Given the description of an element on the screen output the (x, y) to click on. 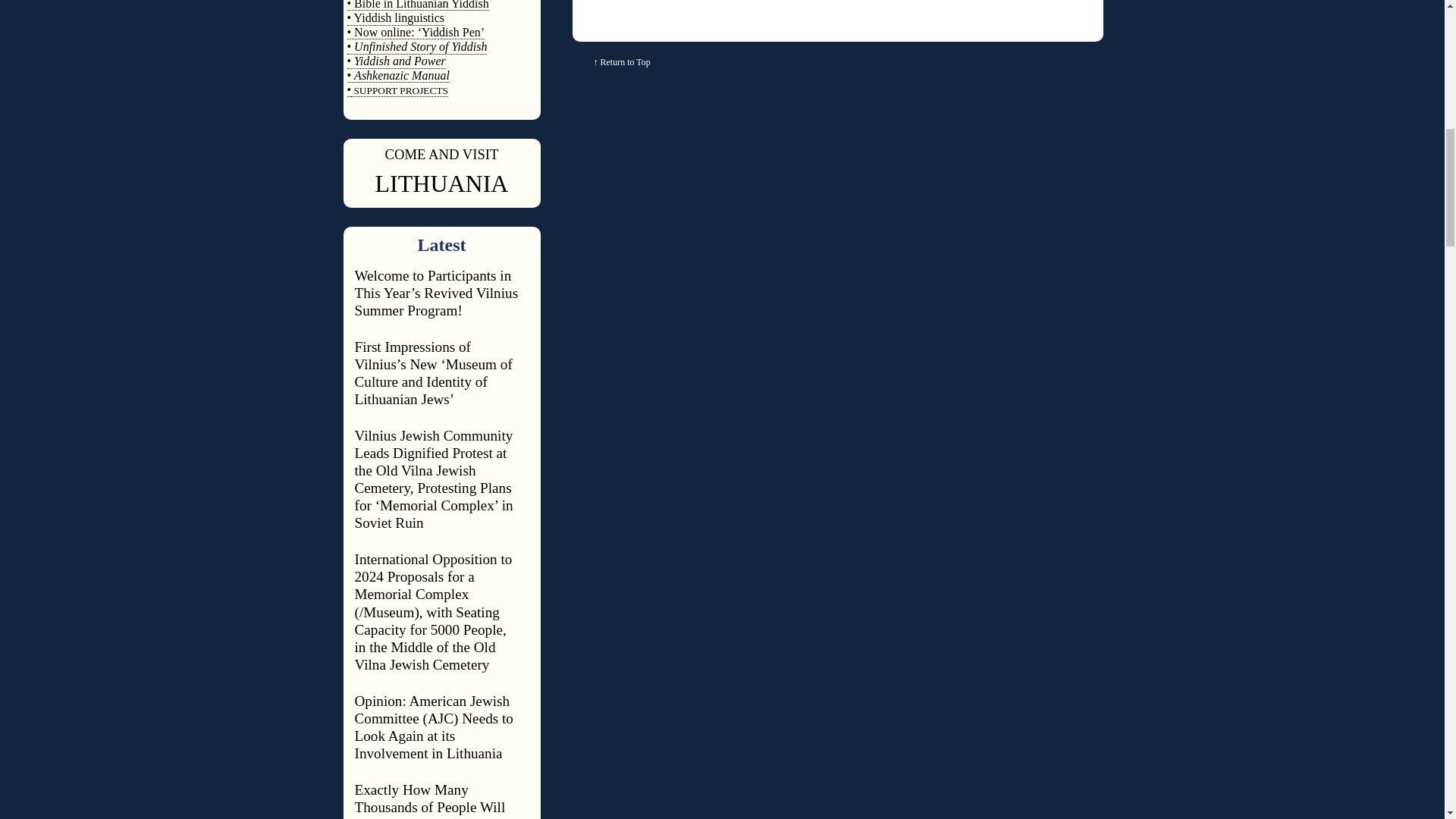
SUPPORT PROJECTS (399, 91)
